Given the description of an element on the screen output the (x, y) to click on. 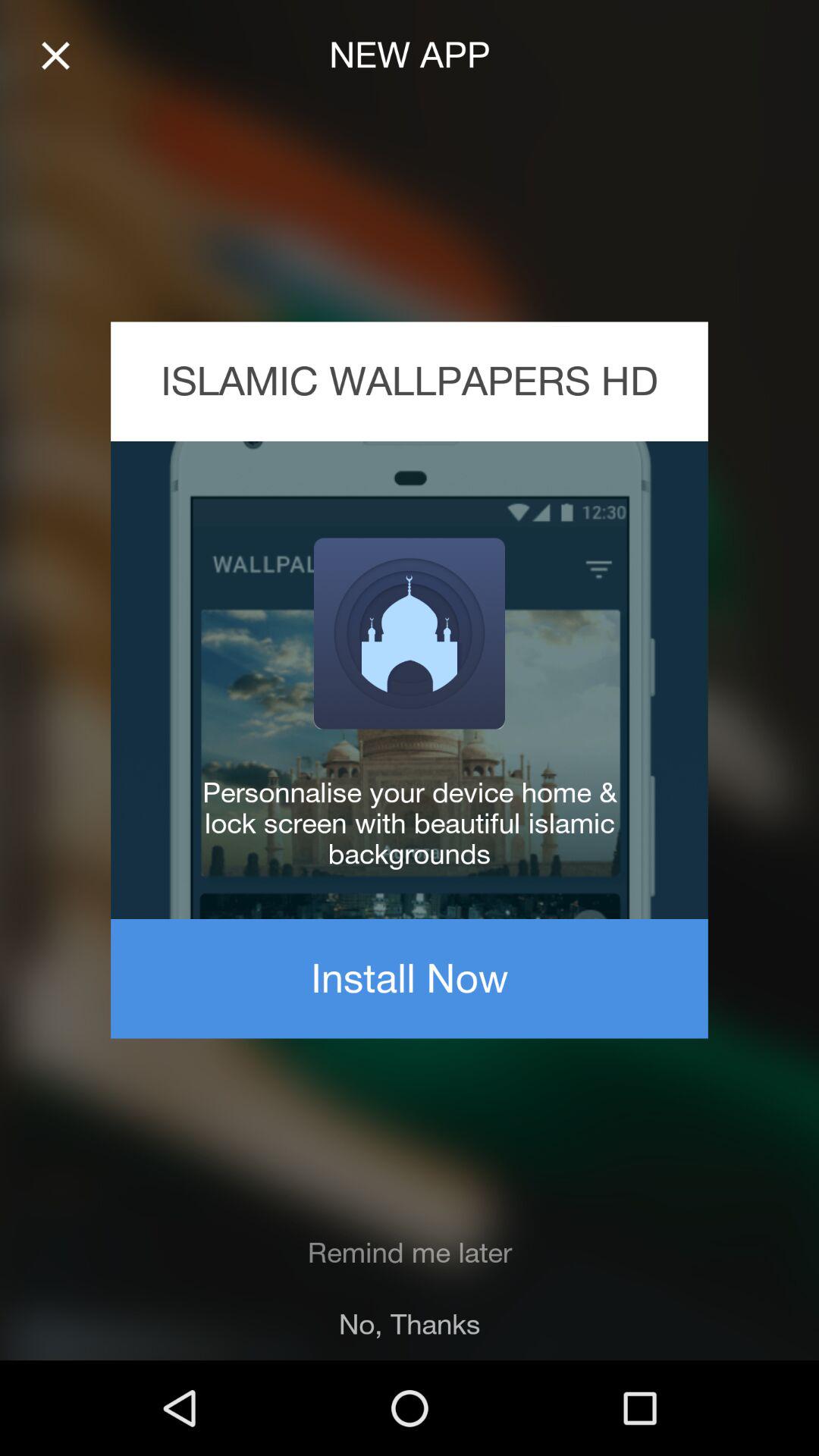
tap the item above the remind me later item (409, 978)
